Given the description of an element on the screen output the (x, y) to click on. 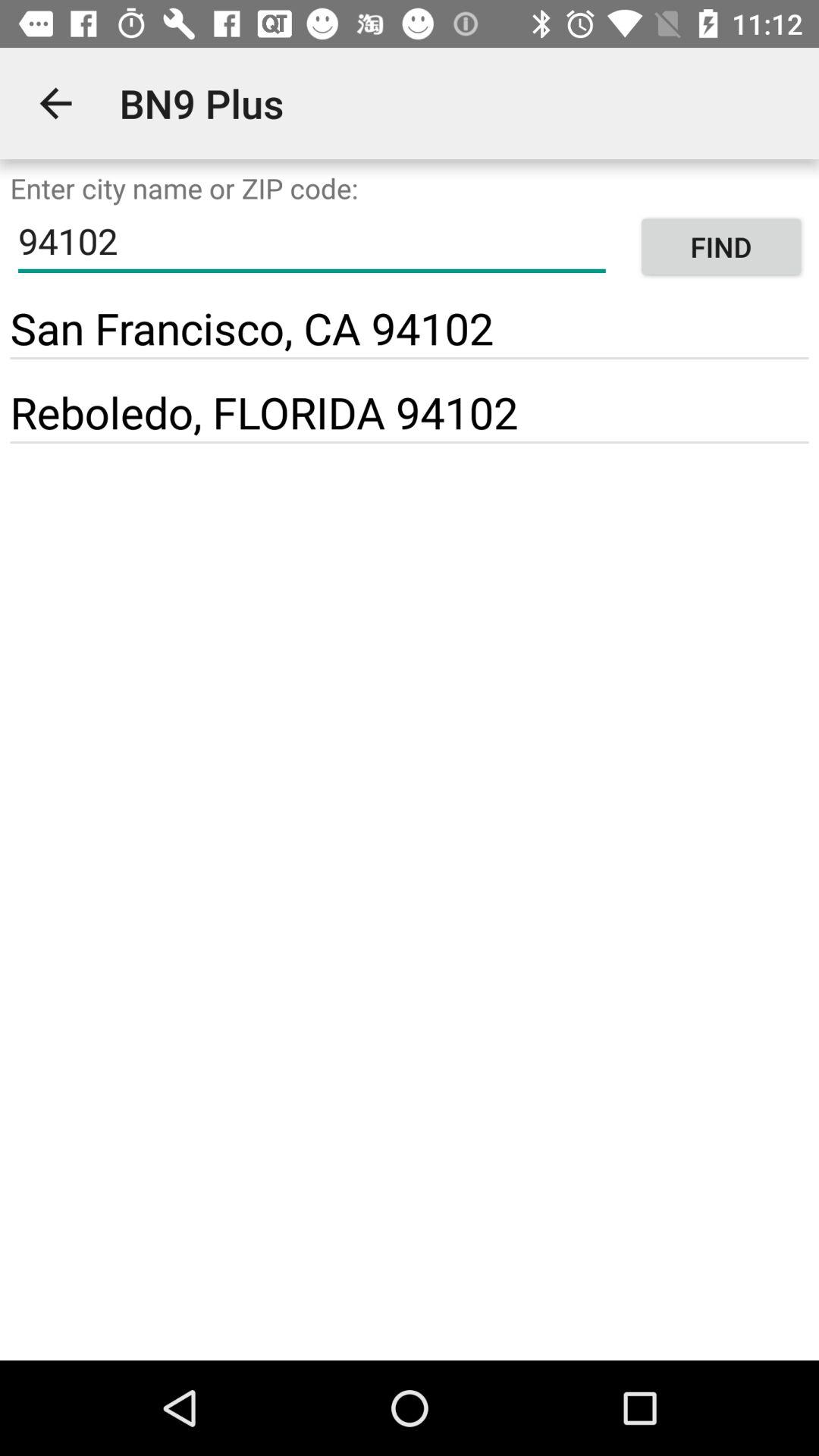
press the icon above enter city name icon (55, 103)
